Given the description of an element on the screen output the (x, y) to click on. 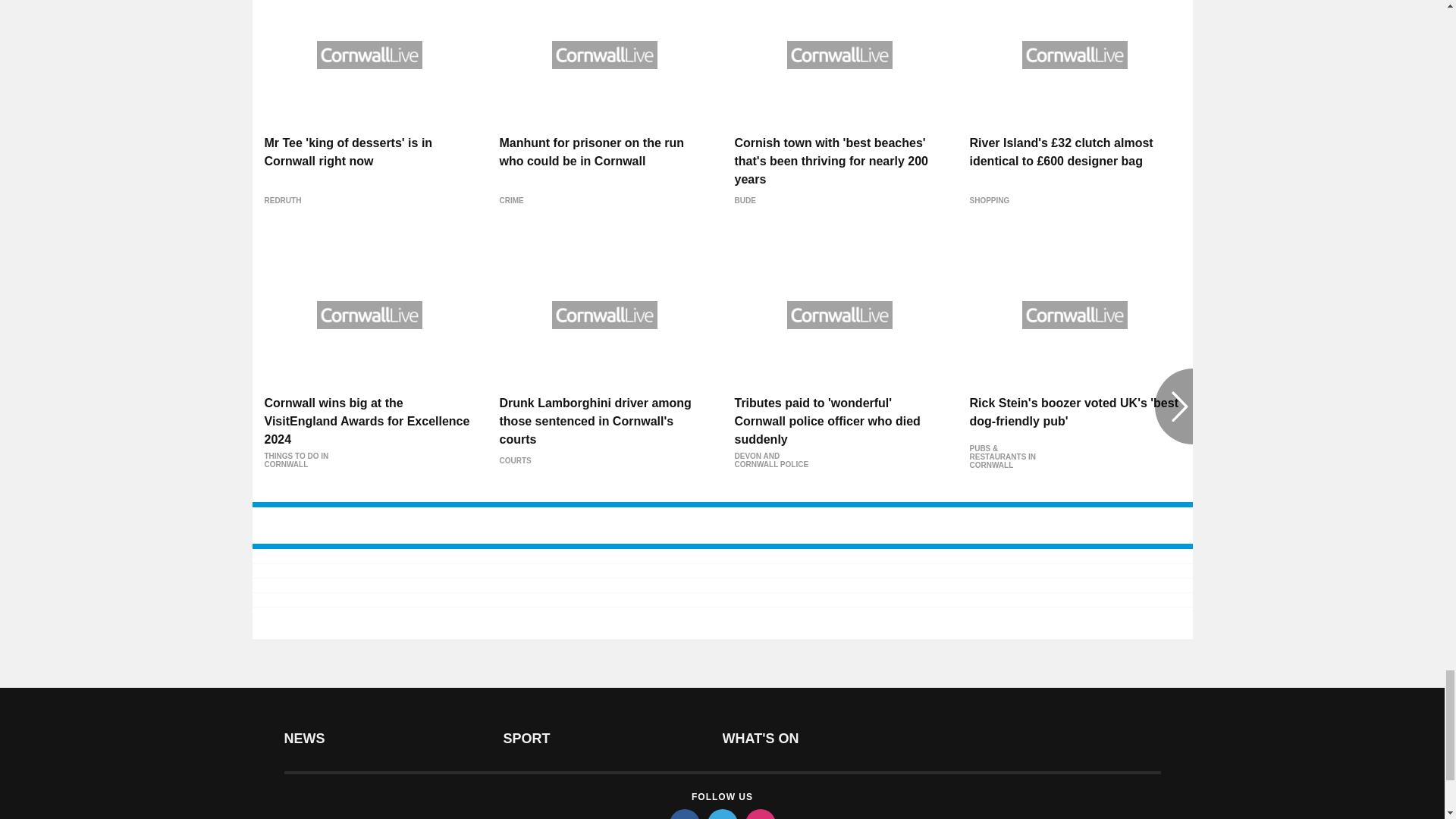
twitter (721, 814)
facebook (683, 814)
instagram (759, 814)
